Given the description of an element on the screen output the (x, y) to click on. 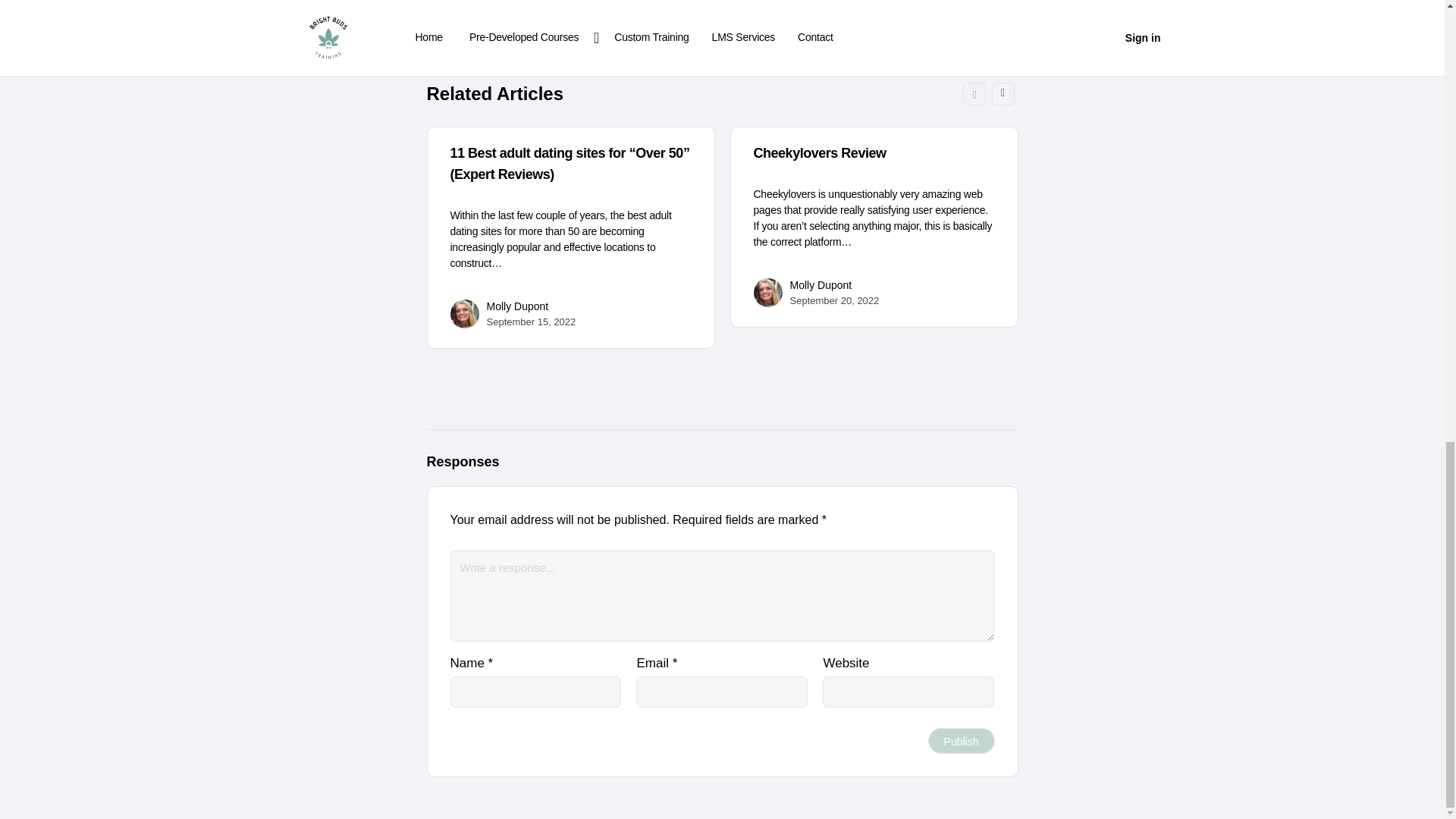
International Dating (550, 19)
Publish (961, 740)
